Given the description of an element on the screen output the (x, y) to click on. 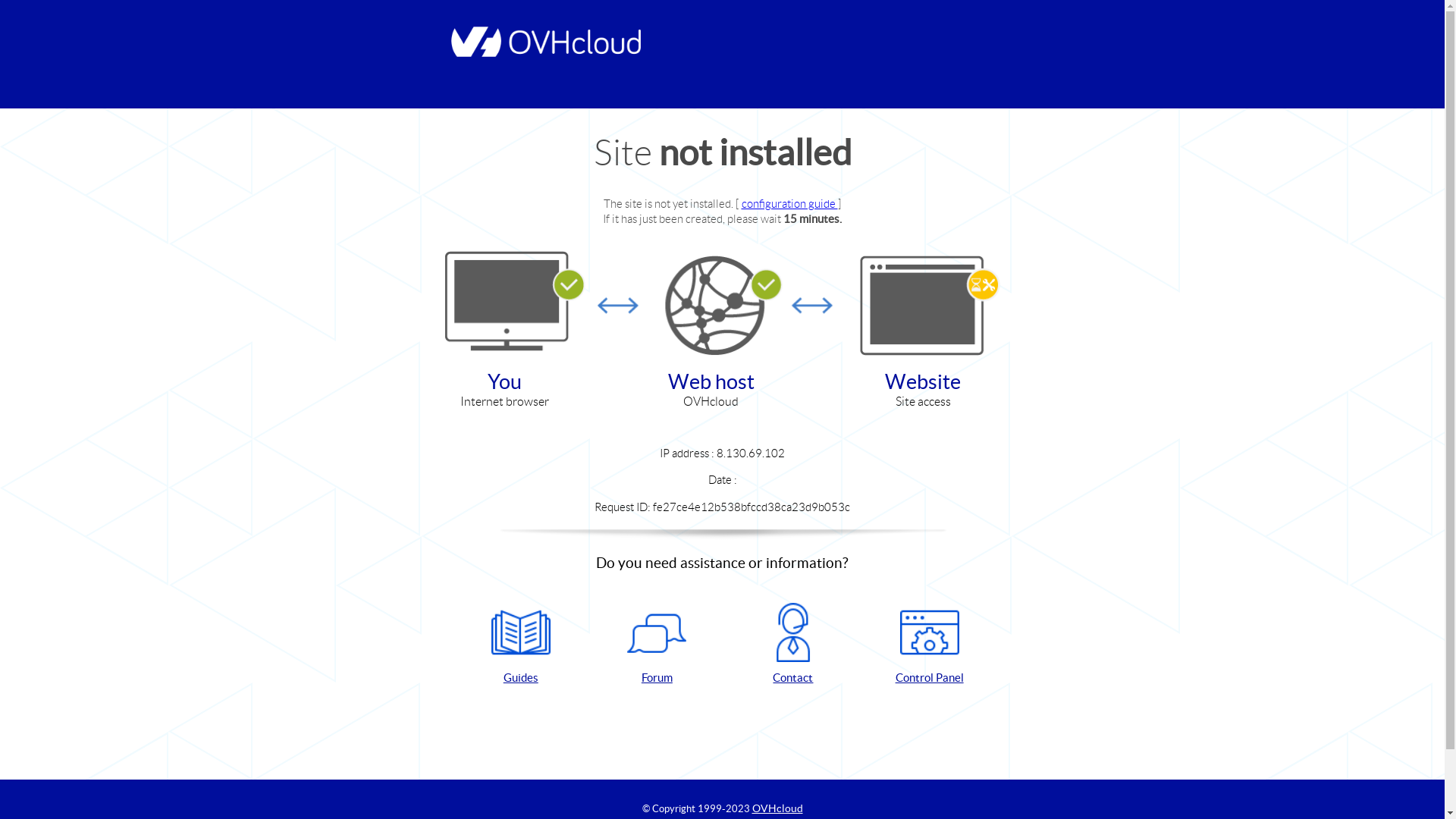
Guides Element type: text (520, 644)
configuration guide Element type: text (789, 203)
Contact Element type: text (792, 644)
Forum Element type: text (656, 644)
Control Panel Element type: text (929, 644)
OVHcloud Element type: text (777, 808)
